Given the description of an element on the screen output the (x, y) to click on. 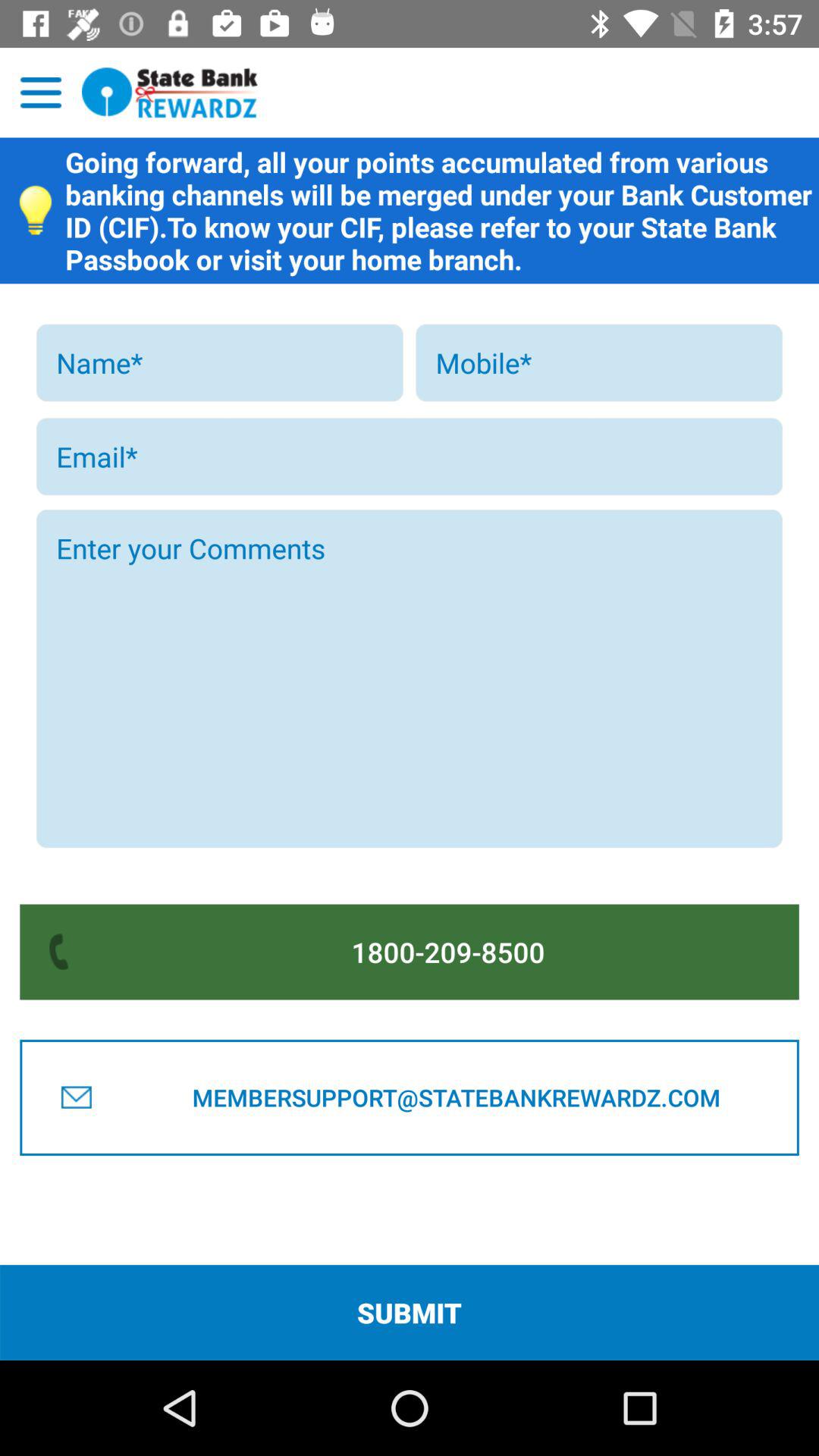
takes back to sbi rewardz main page (169, 92)
